Given the description of an element on the screen output the (x, y) to click on. 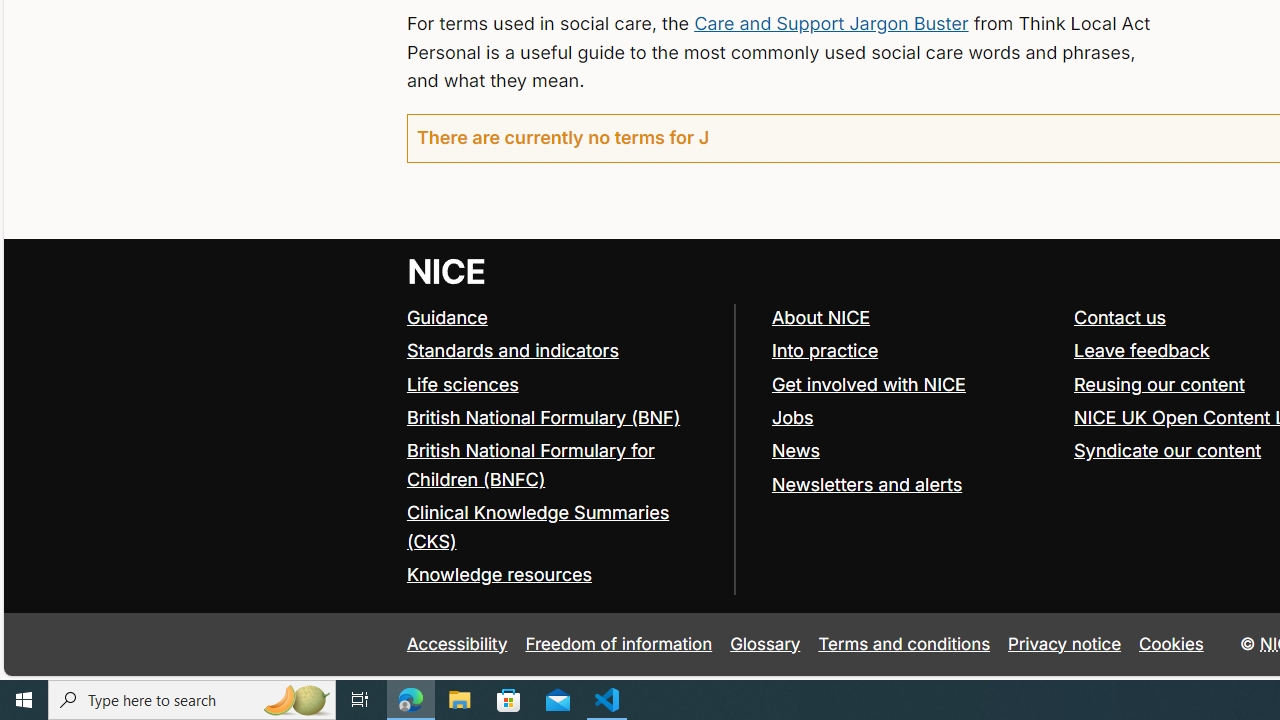
About NICE (913, 317)
Newsletters and alerts (866, 484)
Jobs (792, 416)
Get involved with NICE (868, 383)
Cookies (1171, 644)
Guidance (560, 317)
Jobs (913, 417)
Accessibility (456, 644)
British National Formulary for Children (BNFC) (560, 466)
Into practice (824, 350)
Glossary (765, 644)
Privacy notice (1065, 644)
